Given the description of an element on the screen output the (x, y) to click on. 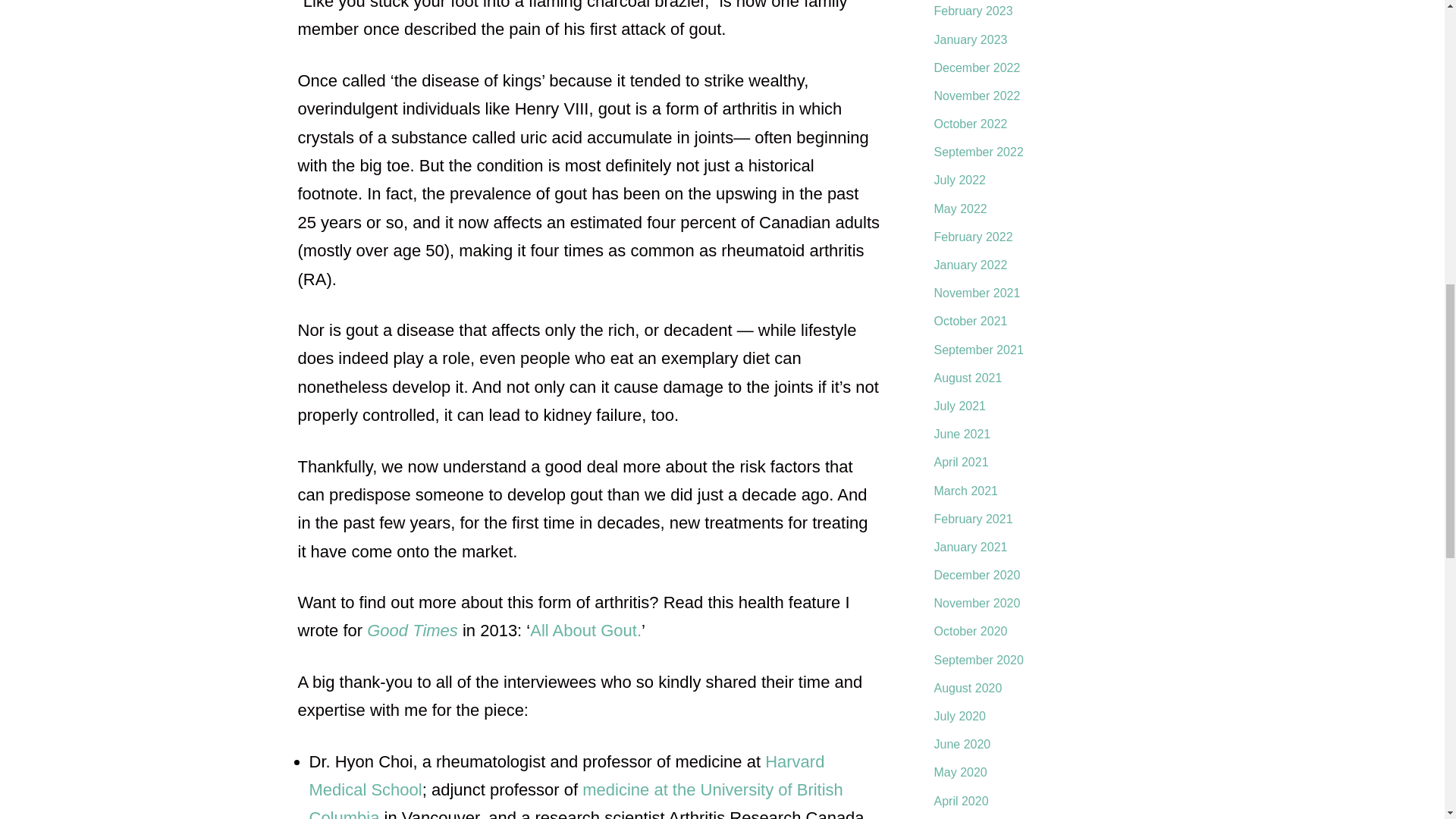
medicine at the University of British Columbia (575, 799)
Good Times (412, 629)
All About Gout. (585, 629)
Harvard Medical School (566, 775)
